Given the description of an element on the screen output the (x, y) to click on. 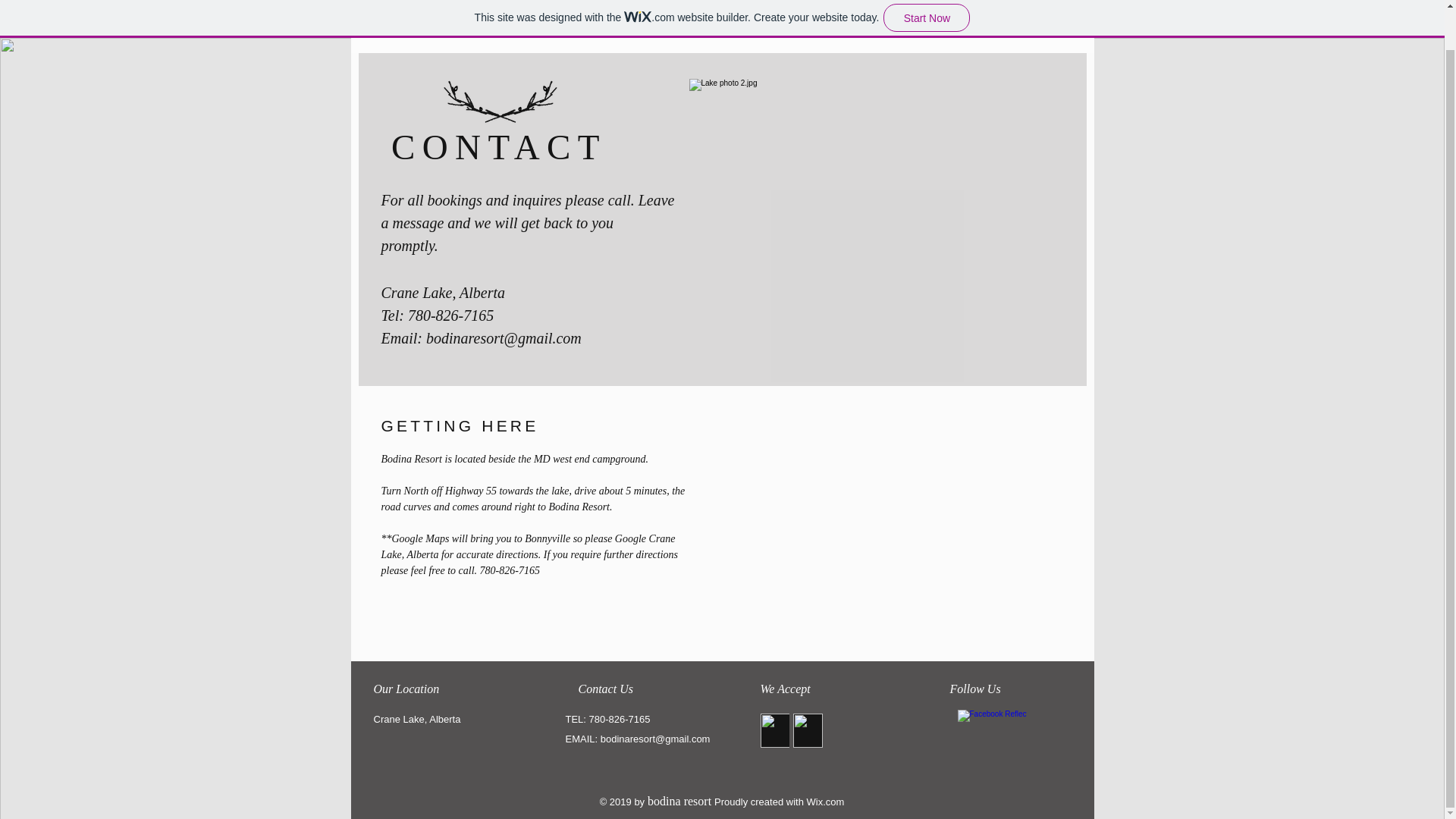
CONTACT US (826, 23)
RATES (542, 23)
m (839, 801)
Wix.co (820, 801)
RULES (675, 23)
HOME (413, 23)
